Given the description of an element on the screen output the (x, y) to click on. 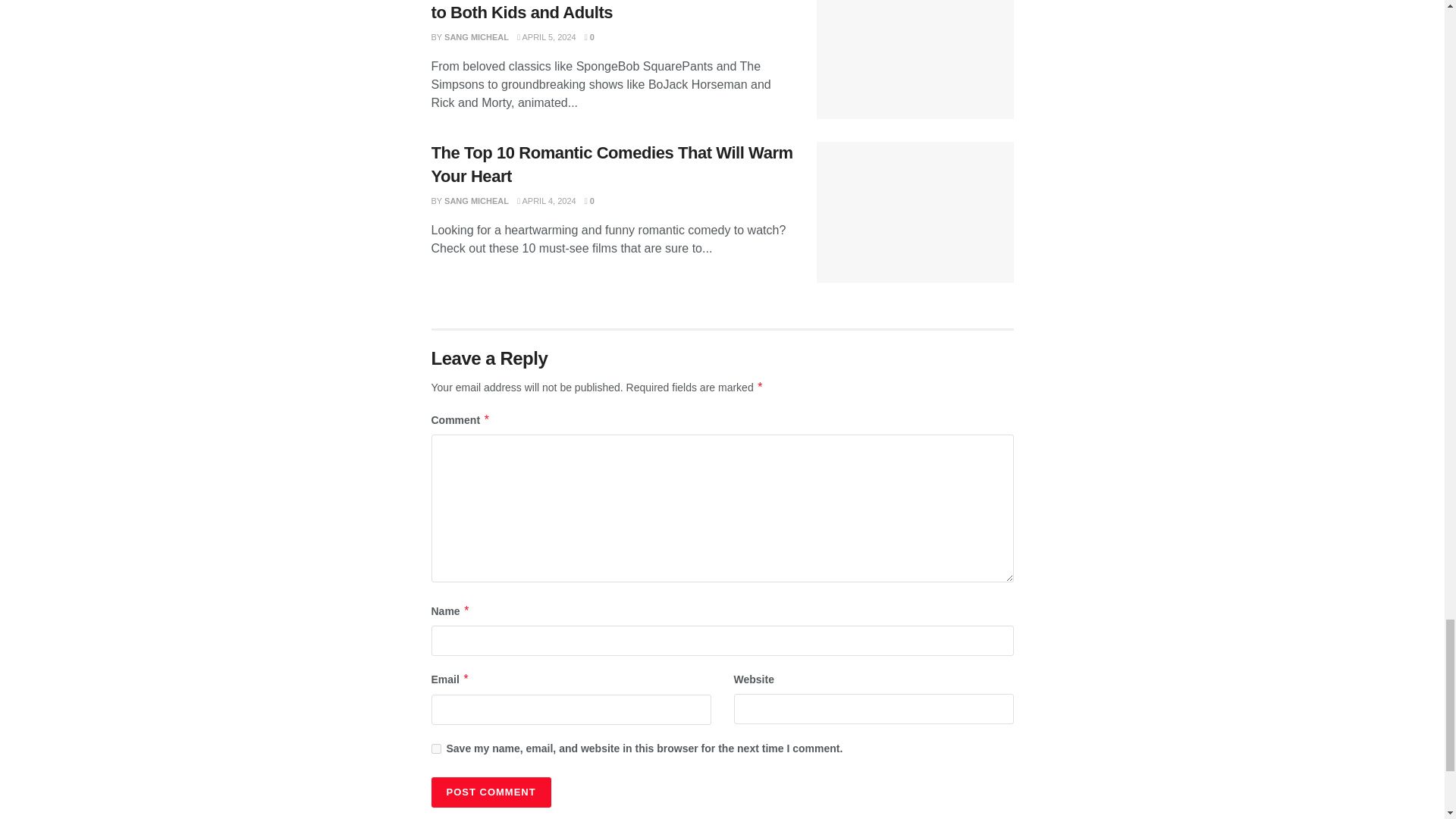
yes (435, 748)
Post Comment (490, 792)
